Given the description of an element on the screen output the (x, y) to click on. 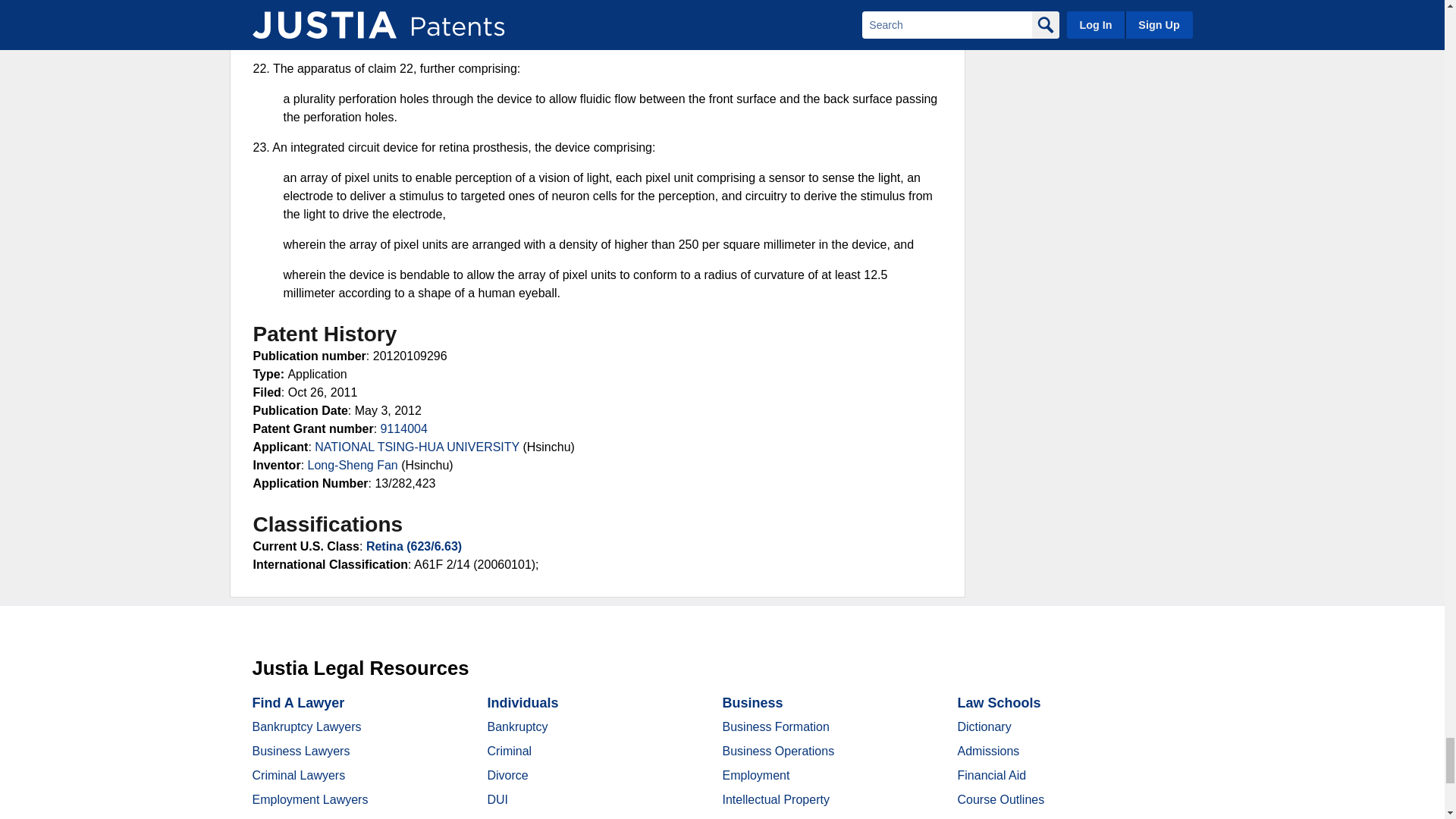
9114004 (404, 428)
